Given the description of an element on the screen output the (x, y) to click on. 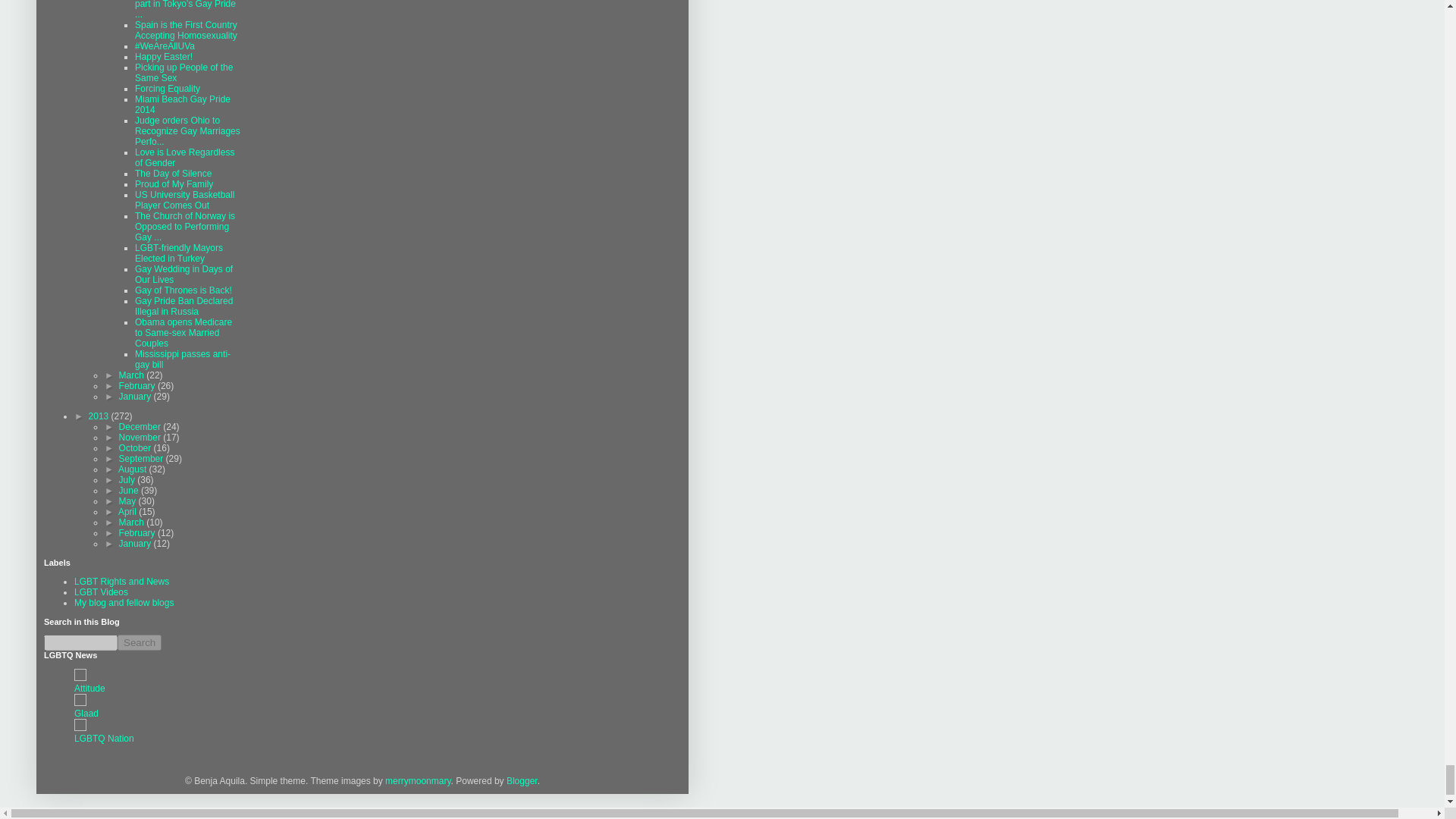
Search (139, 642)
Search (139, 642)
